Given the description of an element on the screen output the (x, y) to click on. 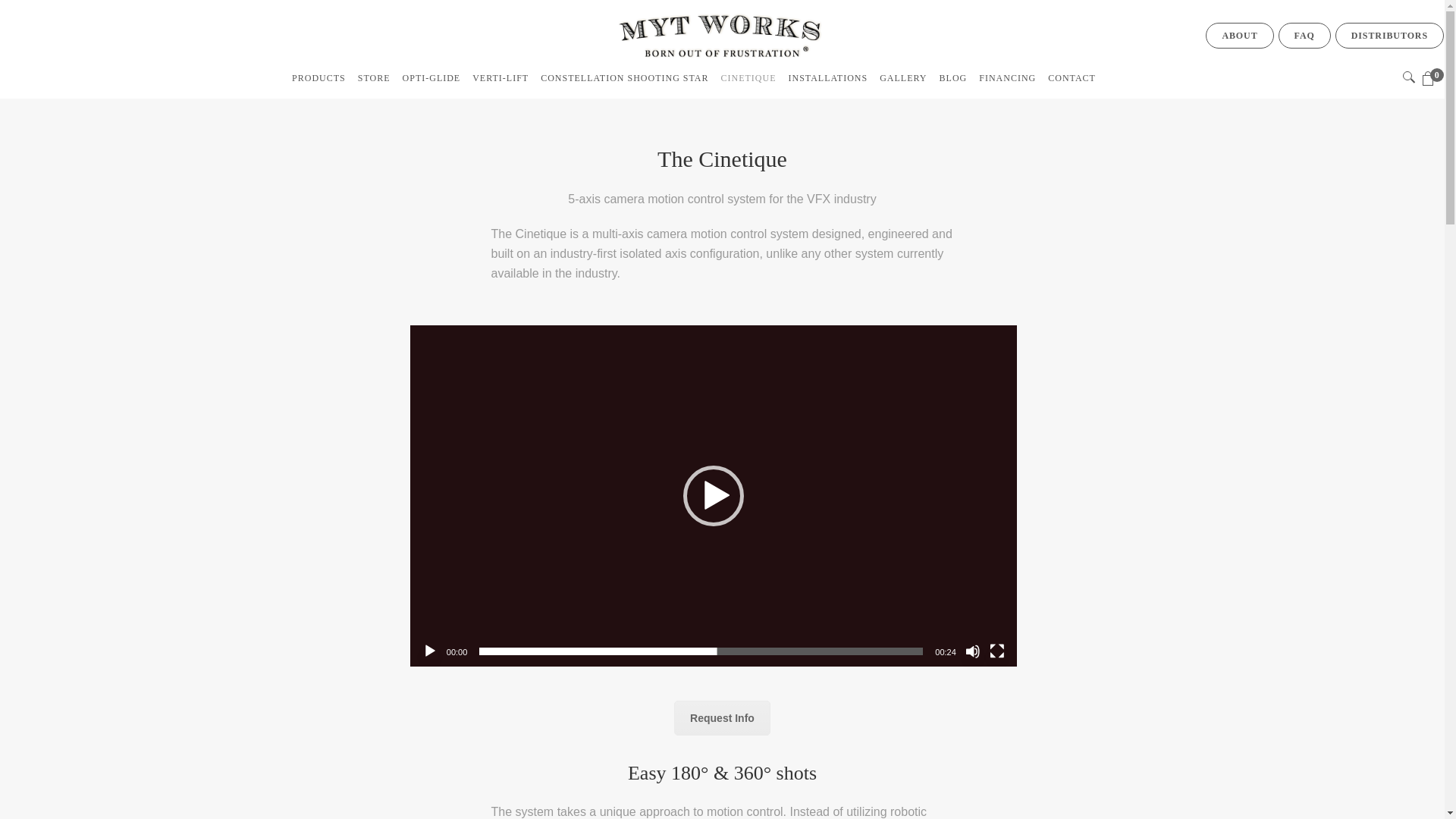
View your shopping bag (1433, 79)
PRODUCTS (318, 78)
VERTI-LIFT (499, 78)
Fullscreen (997, 651)
CONSTELLATION SHOOTING STAR (624, 78)
INSTALLATIONS (829, 78)
CINETIQUE (748, 78)
FAQ (1304, 35)
OPTI-GLIDE (431, 78)
Mute (972, 651)
